Given the description of an element on the screen output the (x, y) to click on. 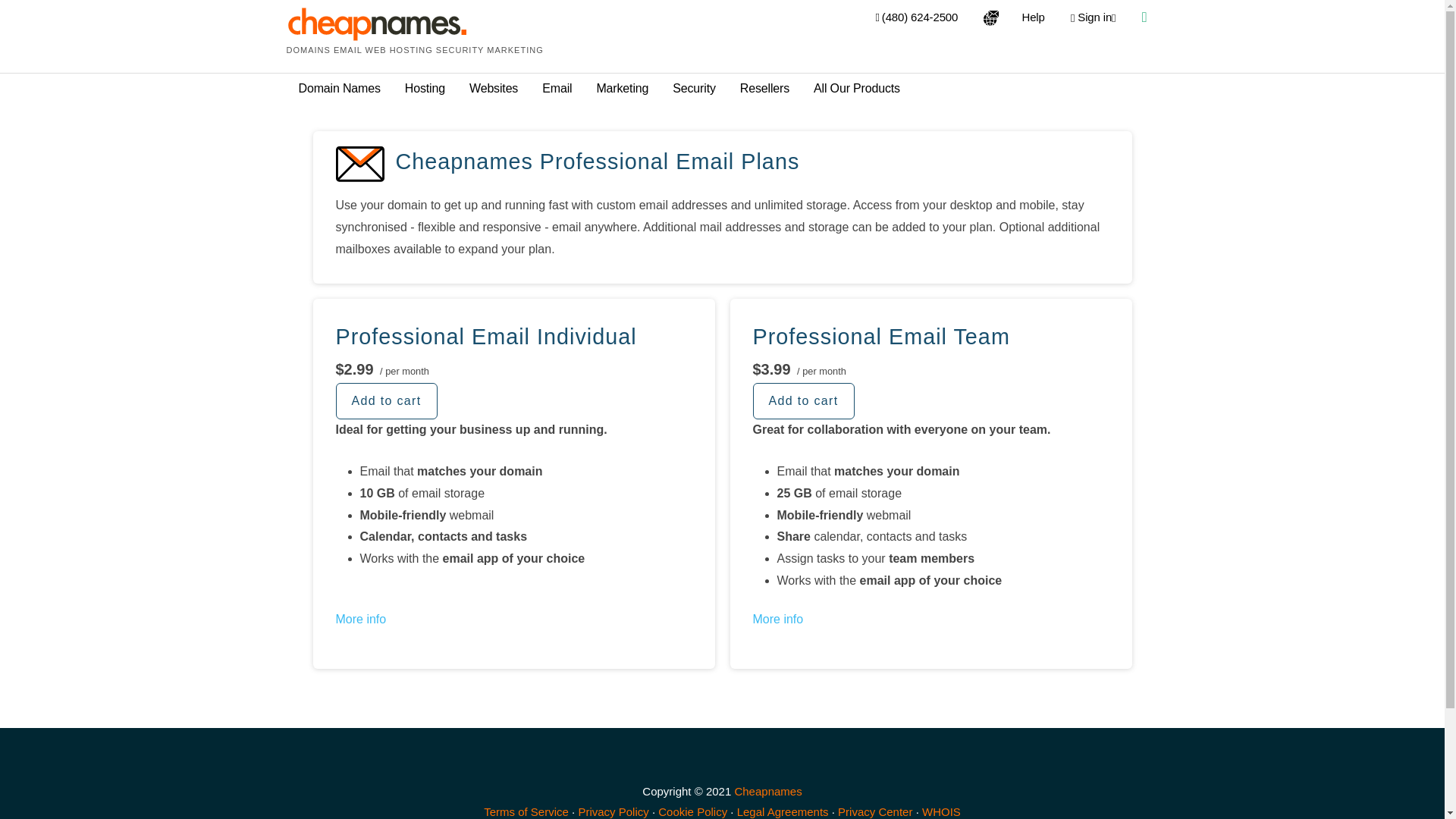
Sign in (1092, 16)
Domain Names (339, 89)
Go to Cheapnames.com (767, 790)
Websites (493, 89)
Help (1032, 16)
International Telephone Numbers (991, 16)
Hosting (424, 89)
Contact Us (916, 16)
